Given the description of an element on the screen output the (x, y) to click on. 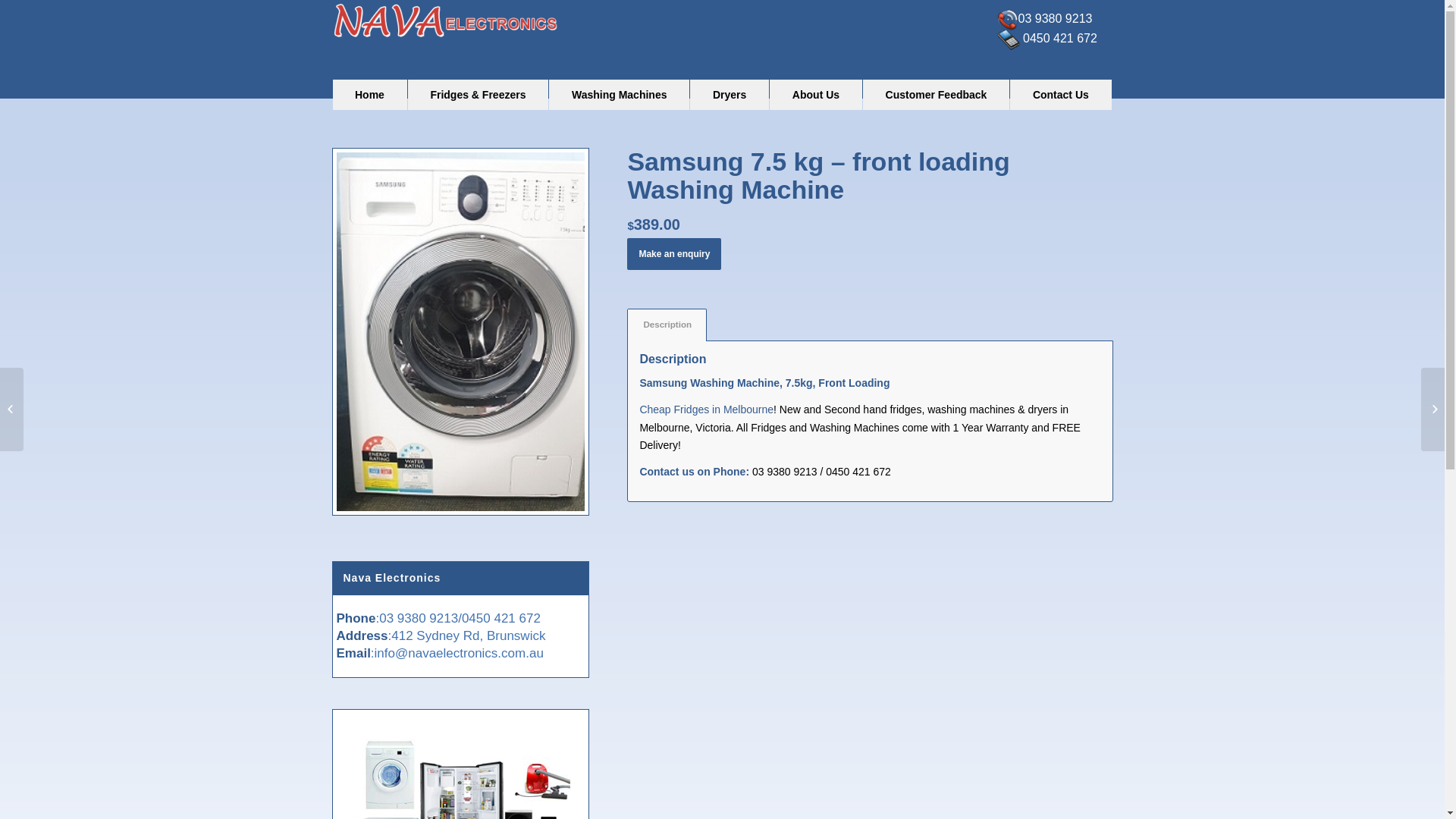
About Us Element type: text (815, 94)
Cheap Fridges in Melbourne Element type: text (706, 409)
0450 421 672 Element type: text (1058, 37)
Dryers Element type: text (729, 94)
03 9380 9213 Element type: text (1055, 18)
Contact Us Element type: text (1060, 94)
Customer Feedback Element type: text (935, 94)
Description Element type: text (666, 324)
Washing Machines Element type: text (619, 94)
Home Element type: text (369, 94)
Fridges & Freezers Element type: text (478, 94)
